Given the description of an element on the screen output the (x, y) to click on. 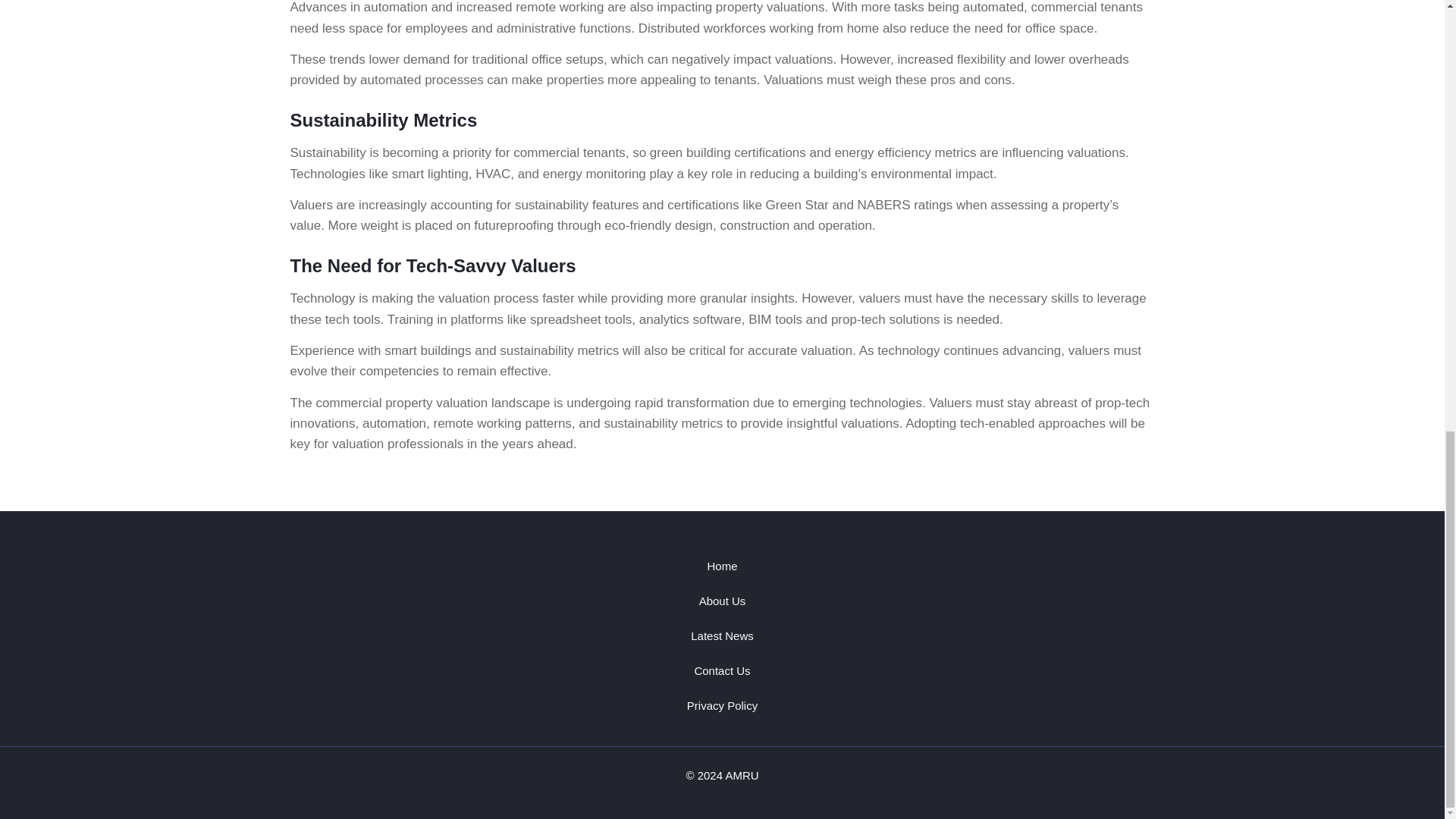
About Us (722, 601)
Contact Us (722, 670)
Privacy Policy (722, 705)
Latest News (722, 636)
Home (722, 565)
